Given the description of an element on the screen output the (x, y) to click on. 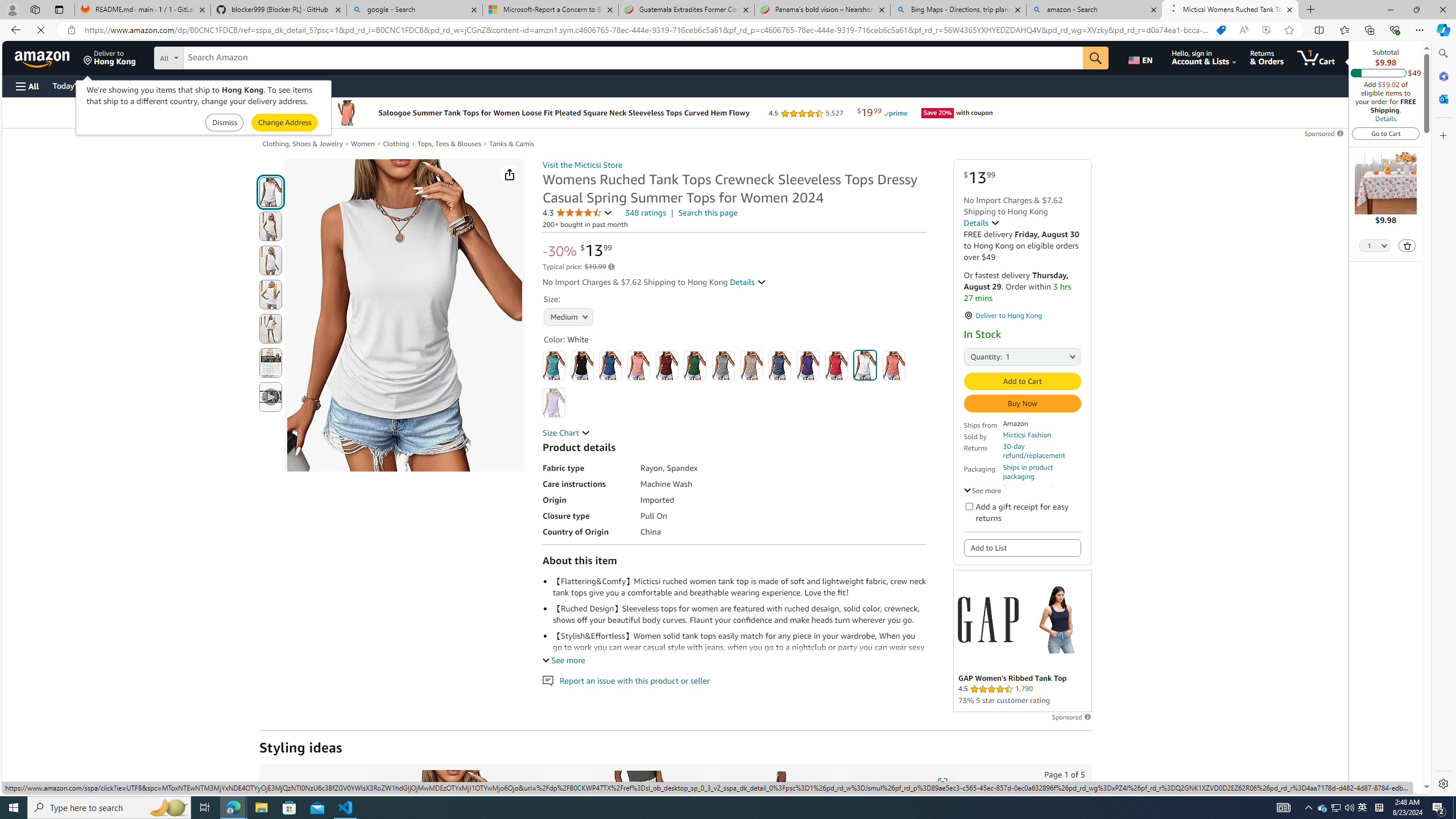
Shopping in Microsoft Edge (1220, 29)
White (865, 364)
Customer Service (145, 85)
Size Chart  (566, 432)
Search this page (708, 212)
348 ratings (645, 212)
Pink (894, 365)
Hello, sign in Account & Lists (1203, 57)
Green (695, 365)
